Given the description of an element on the screen output the (x, y) to click on. 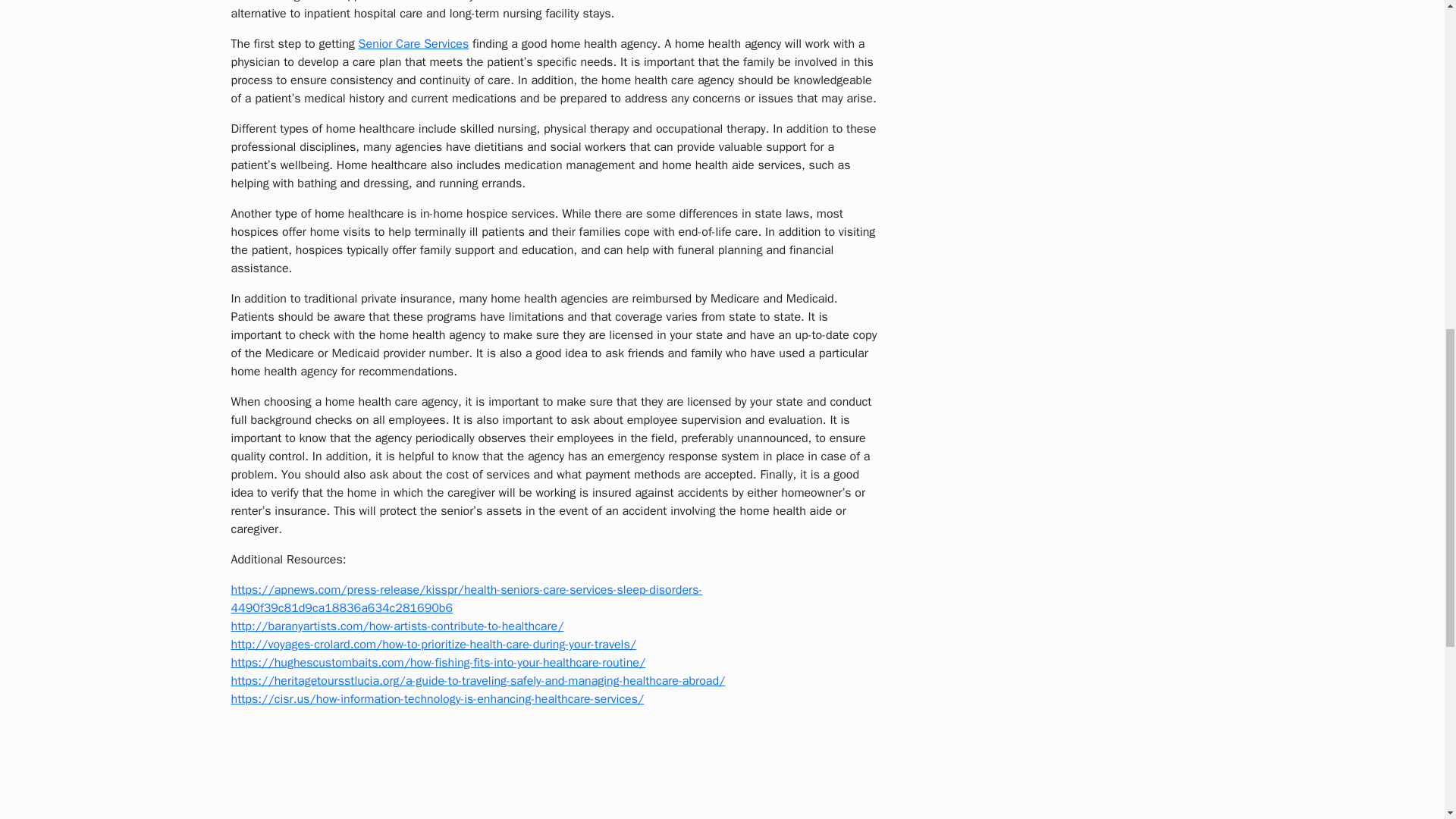
Senior Care Services (413, 43)
